Given the description of an element on the screen output the (x, y) to click on. 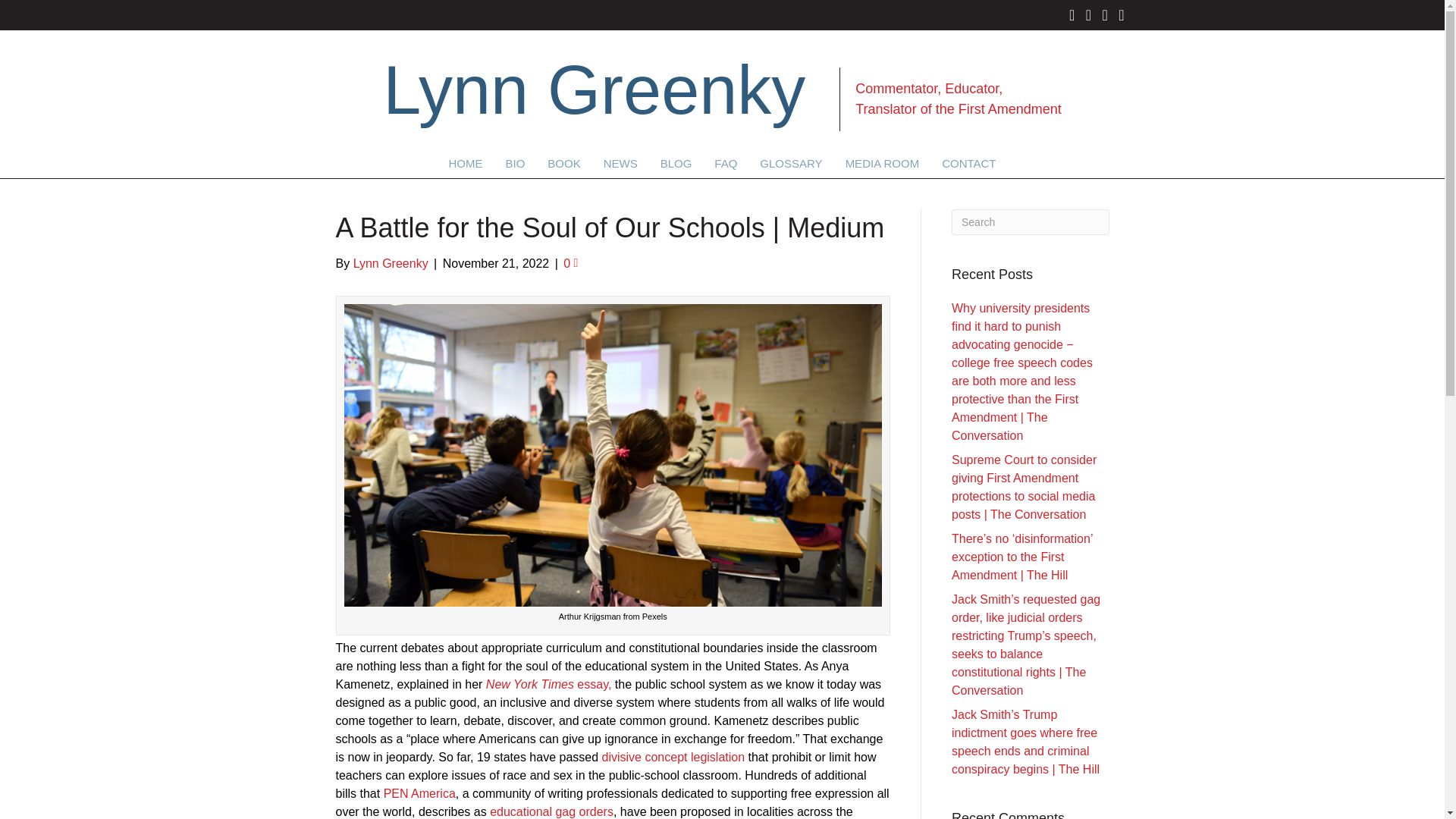
divisive concept legislation (673, 757)
GLOSSARY (790, 163)
educational gag orders (550, 811)
Type and press Enter to search. (1030, 222)
Lynn Greenky (390, 263)
BLOG (676, 163)
BIO (514, 163)
0 (570, 263)
MEDIA ROOM (882, 163)
BOOK (563, 163)
